Given the description of an element on the screen output the (x, y) to click on. 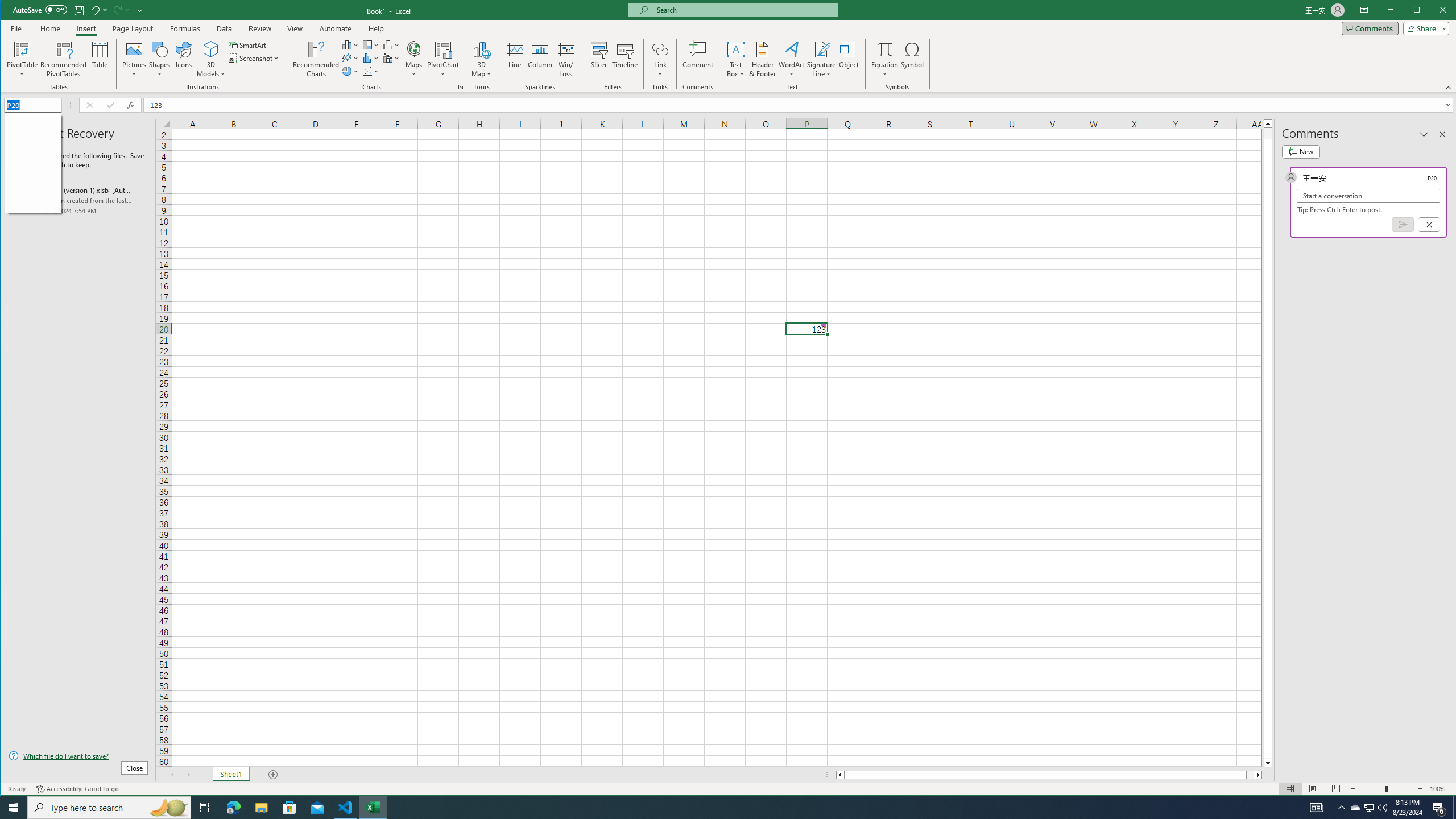
PivotChart (443, 48)
Link (659, 59)
Column (540, 59)
New comment (1300, 151)
Running applications (717, 807)
Maximize (1432, 11)
Text Box (735, 59)
